Given the description of an element on the screen output the (x, y) to click on. 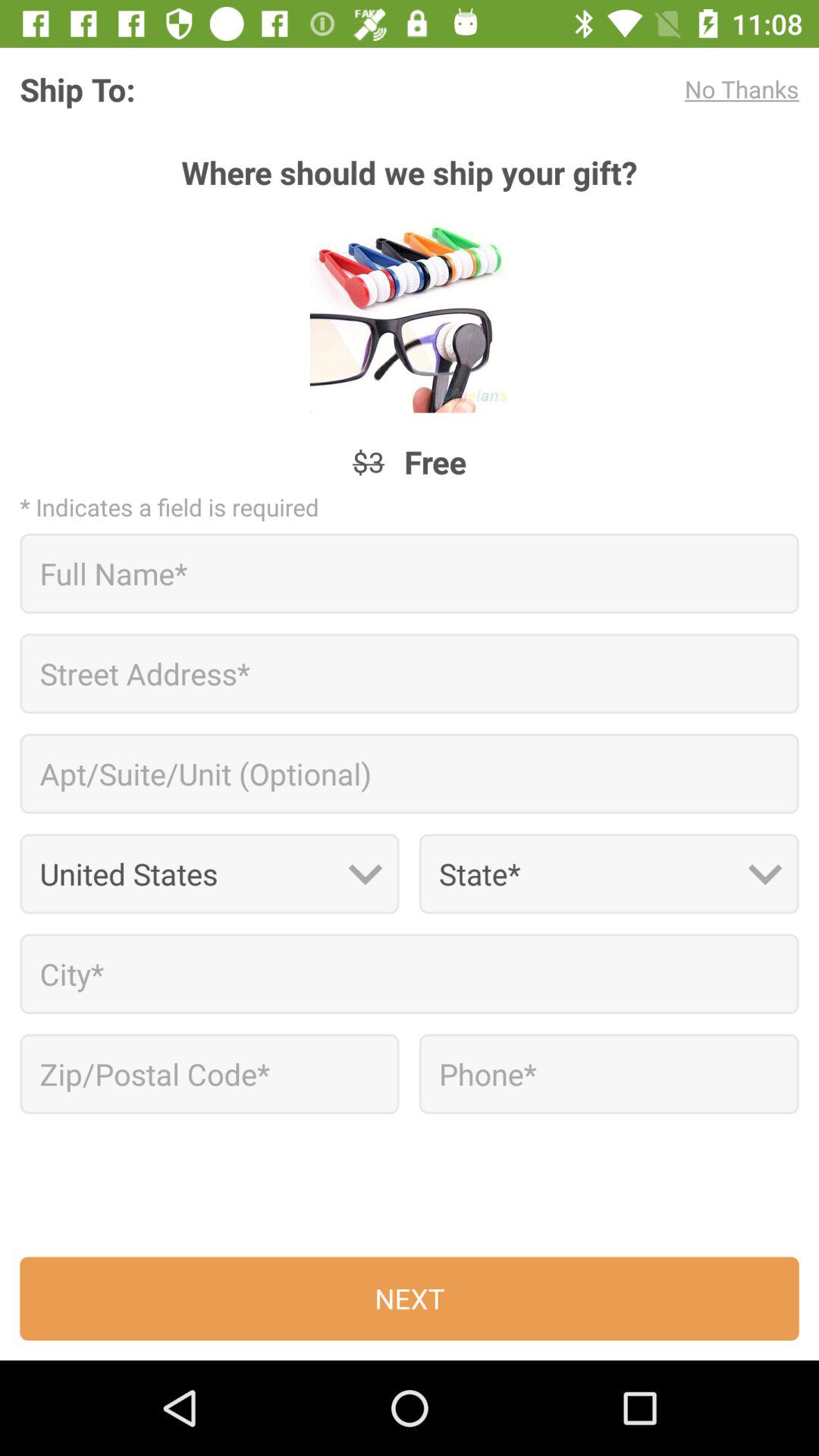
enter phone number (609, 1073)
